Given the description of an element on the screen output the (x, y) to click on. 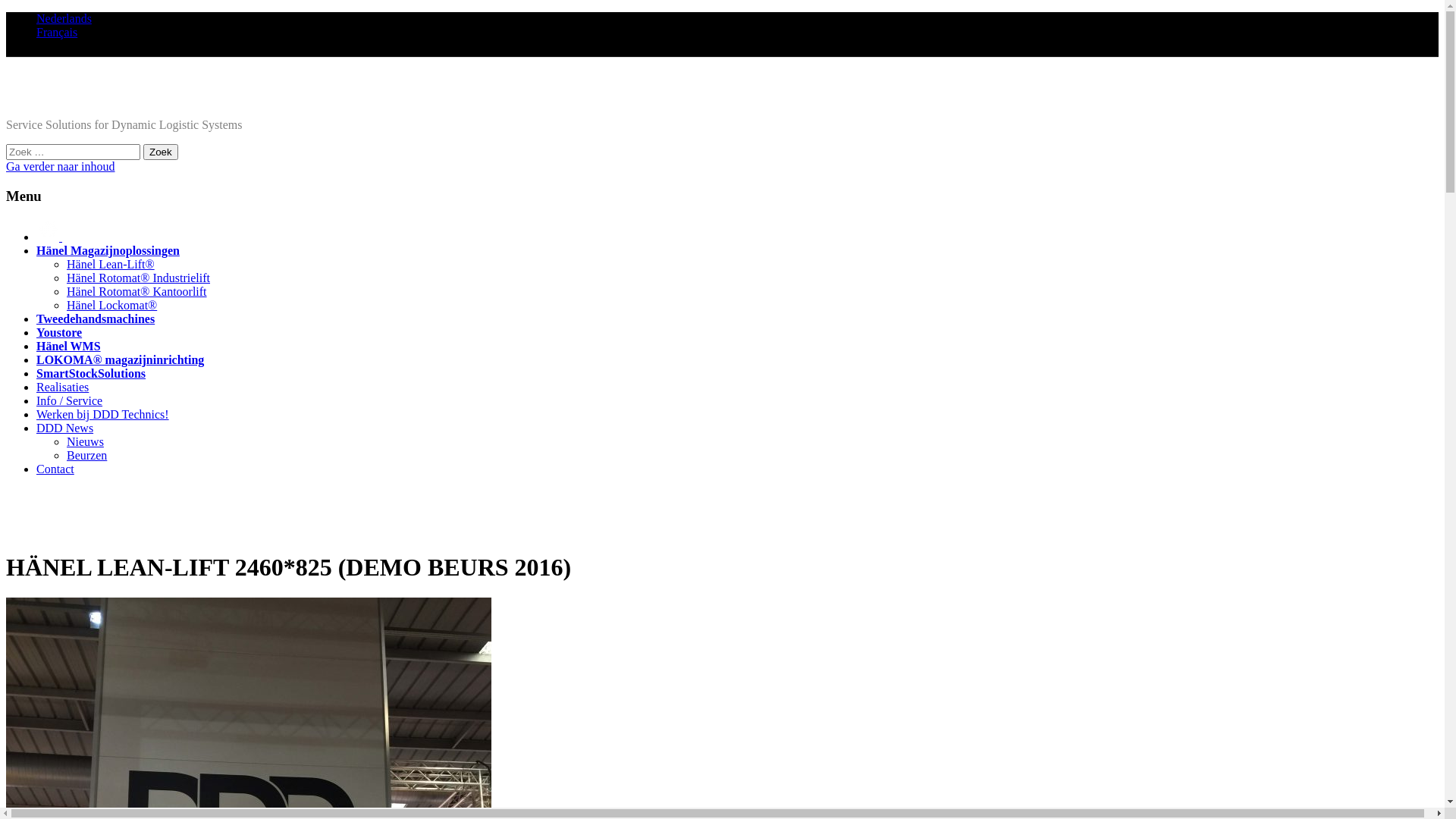
Werken bij DDD Technics! Element type: text (102, 413)
Realisaties Element type: text (62, 386)
Nieuws Element type: text (84, 441)
  Element type: text (49, 236)
Tweedehandsmachines Element type: text (95, 318)
Beurzen Element type: text (86, 454)
Contact Element type: text (55, 468)
SmartStockSolutions Element type: text (90, 373)
DDD Technics Element type: hover (54, 529)
Info / Service Element type: text (69, 400)
DDD News Element type: text (64, 427)
DDD Technics Element type: hover (54, 98)
Nederlands Element type: text (63, 18)
Zoek Element type: text (160, 152)
Zoek voor: Element type: hover (73, 152)
Youstore Element type: text (58, 332)
Ga verder naar inhoud Element type: text (60, 166)
